Given the description of an element on the screen output the (x, y) to click on. 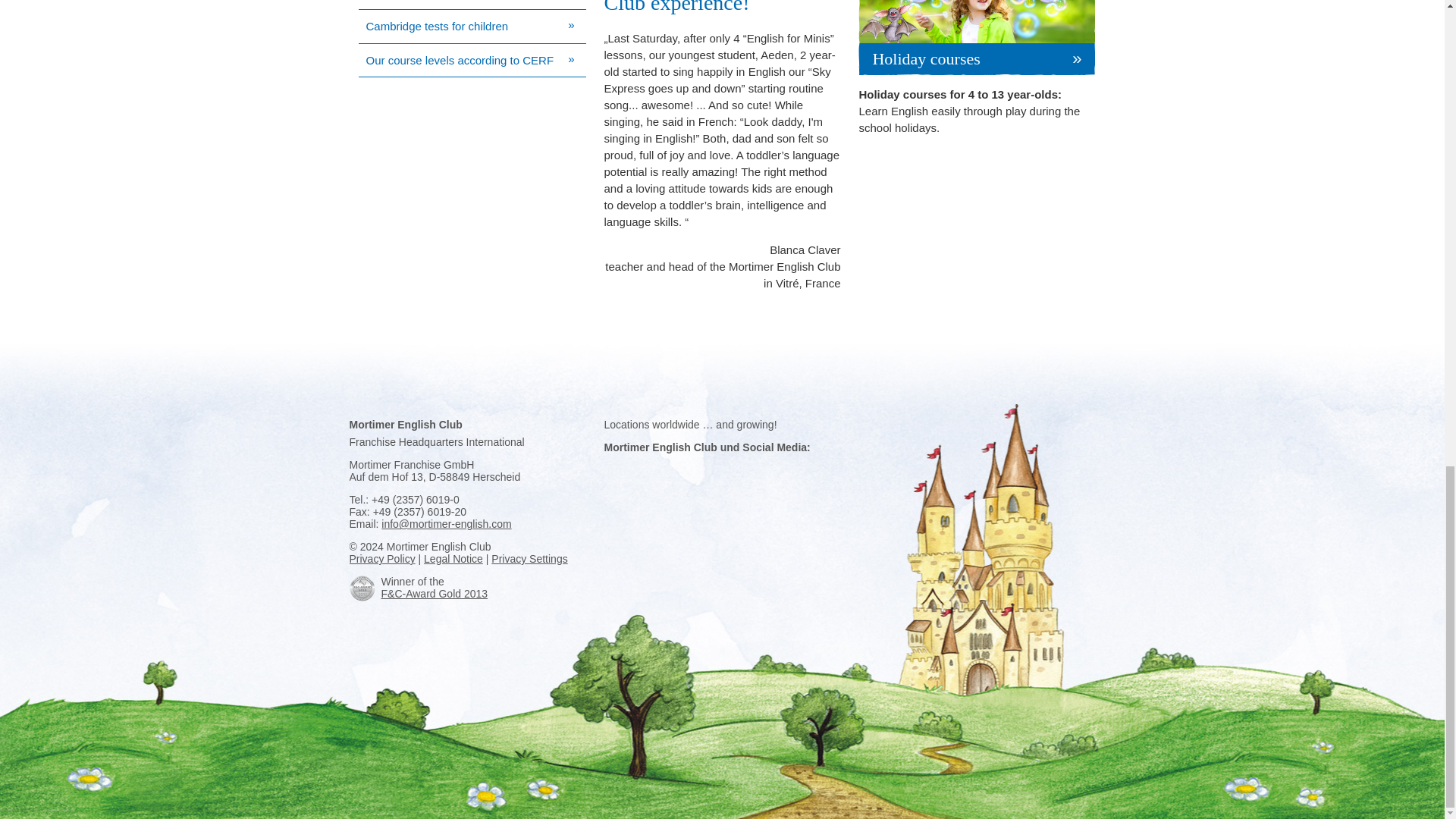
Facebook (361, 588)
Youtube (695, 469)
Xing (748, 469)
Instagram (641, 469)
Facebook (615, 469)
LinkedIn (721, 469)
Twitter (668, 469)
